Given the description of an element on the screen output the (x, y) to click on. 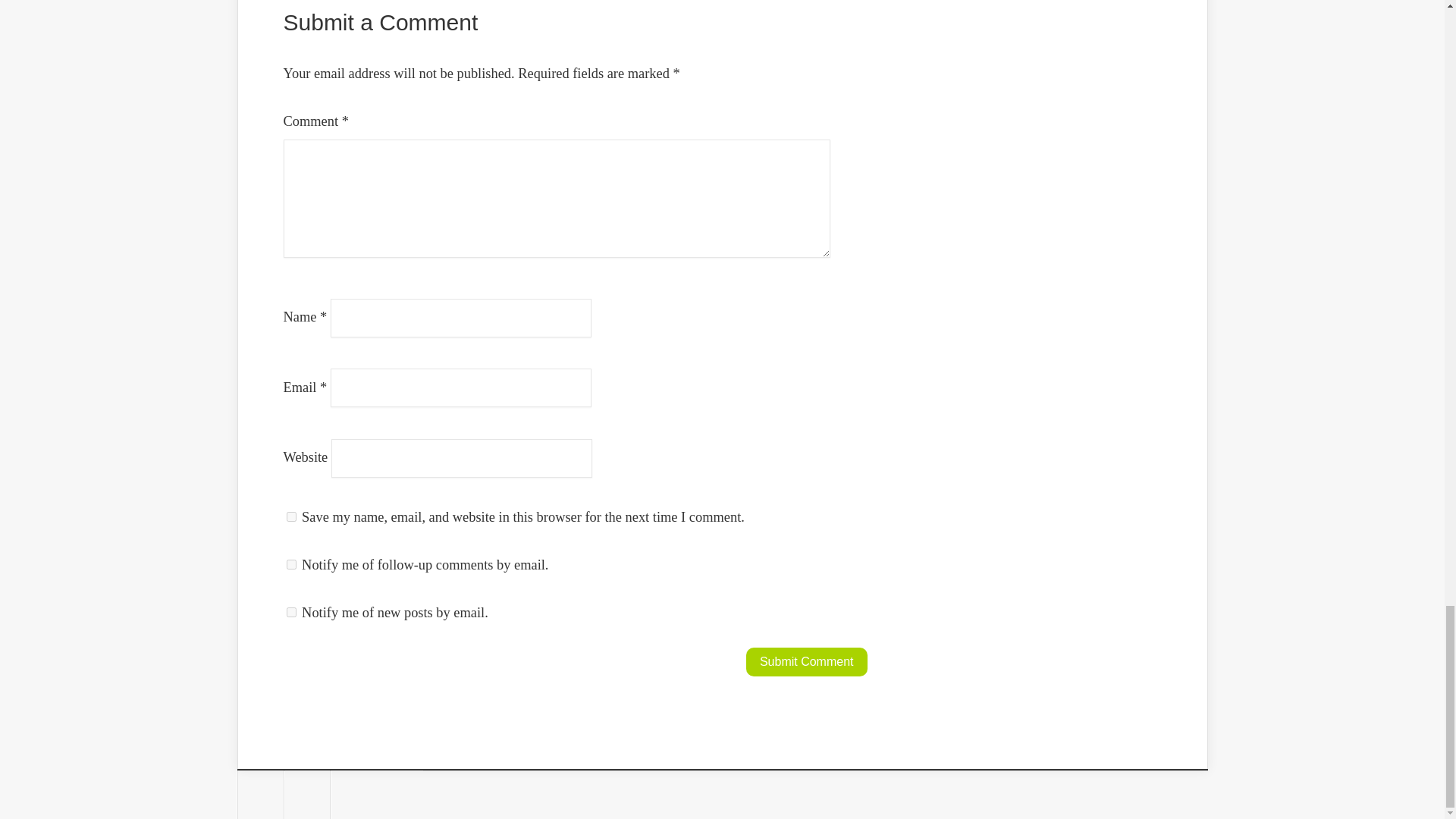
yes (291, 516)
subscribe (291, 564)
subscribe (291, 612)
Submit Comment (806, 661)
Submit Comment (806, 661)
